Given the description of an element on the screen output the (x, y) to click on. 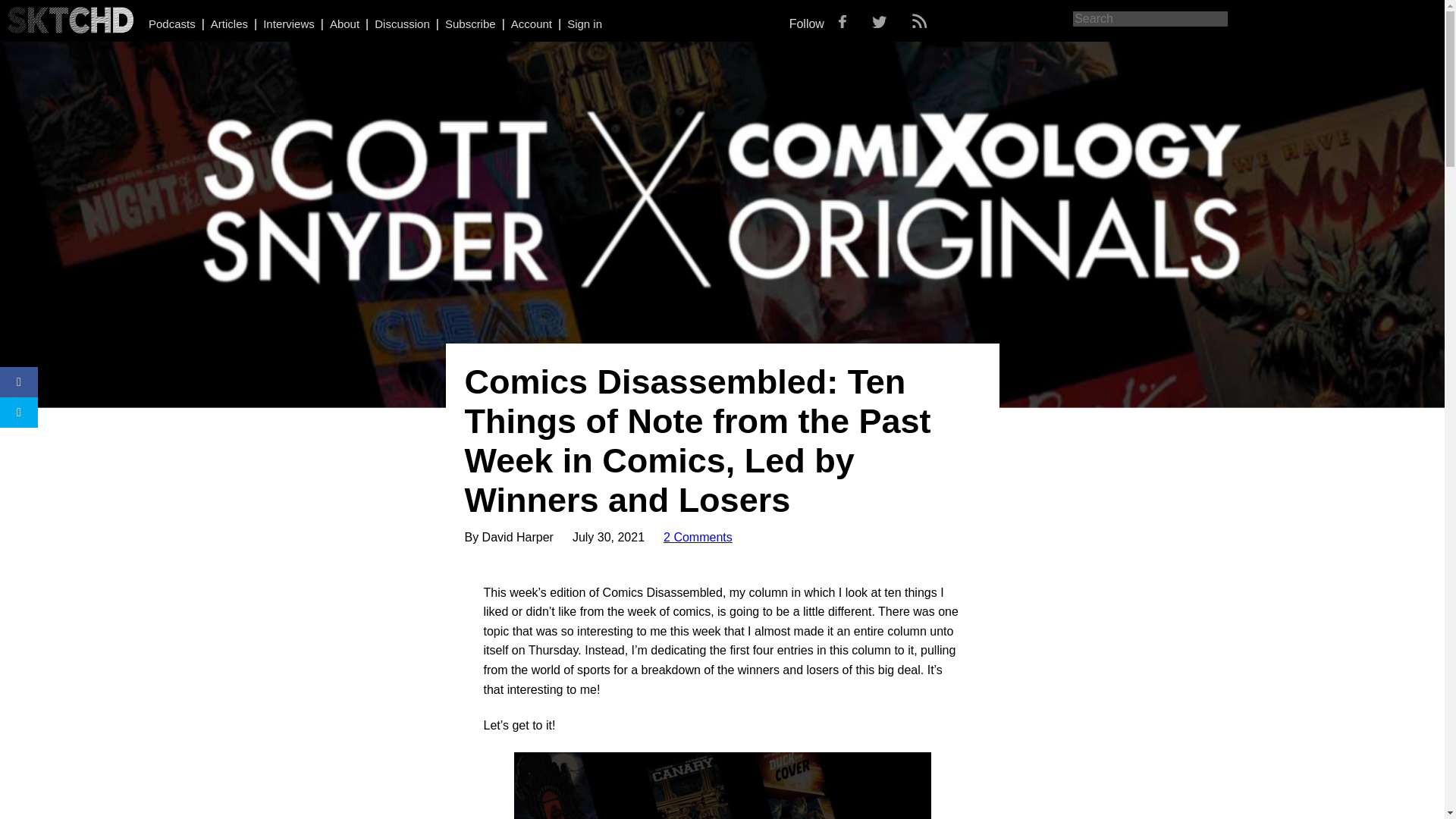
Subscribe (470, 23)
Articles (229, 23)
Podcasts (171, 23)
Account (531, 23)
2 Comments (697, 536)
Sign in (584, 23)
Discussion (401, 23)
About (344, 23)
Interviews (288, 23)
